Given the description of an element on the screen output the (x, y) to click on. 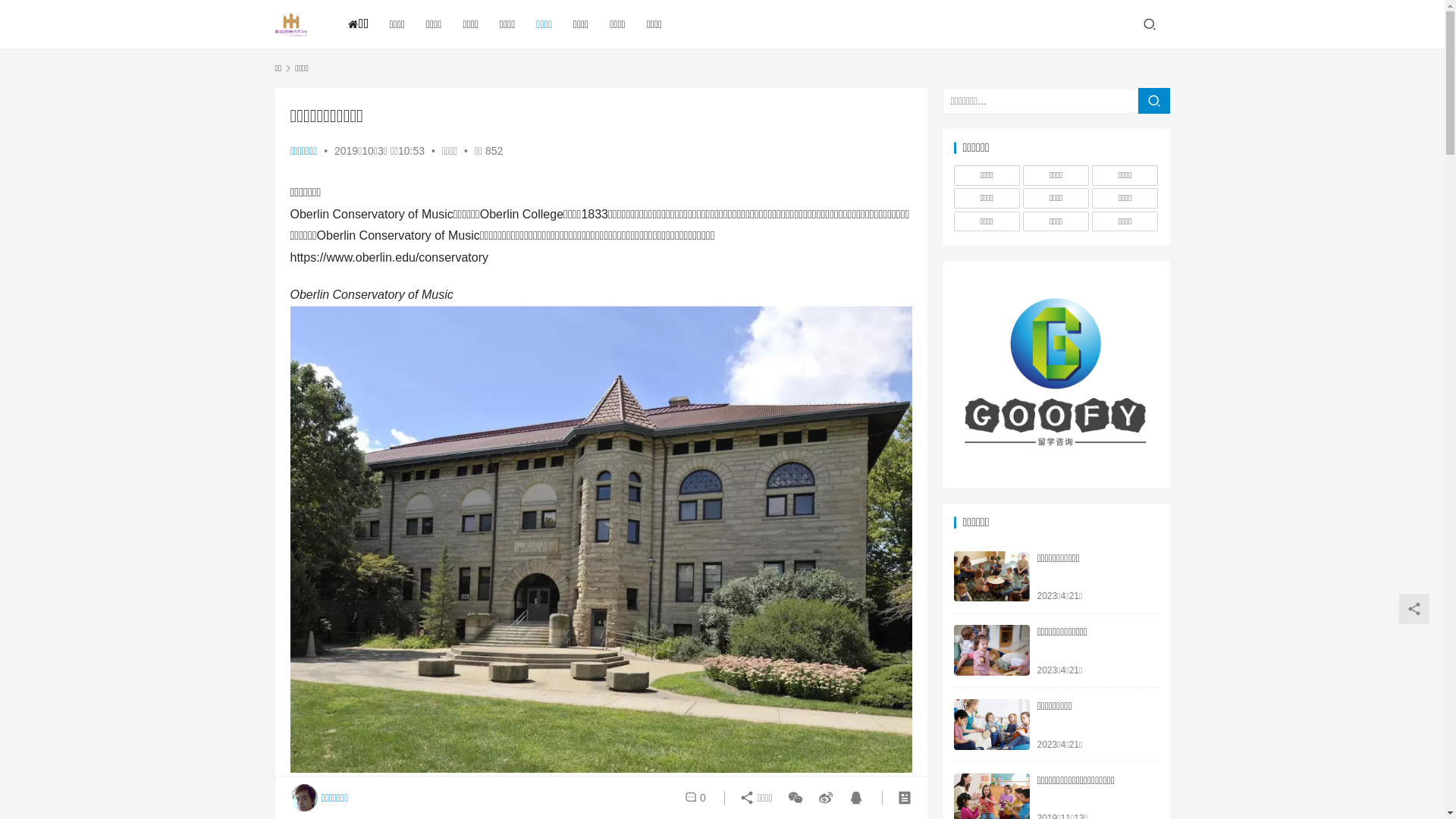
0 Element type: text (695, 797)
